Given the description of an element on the screen output the (x, y) to click on. 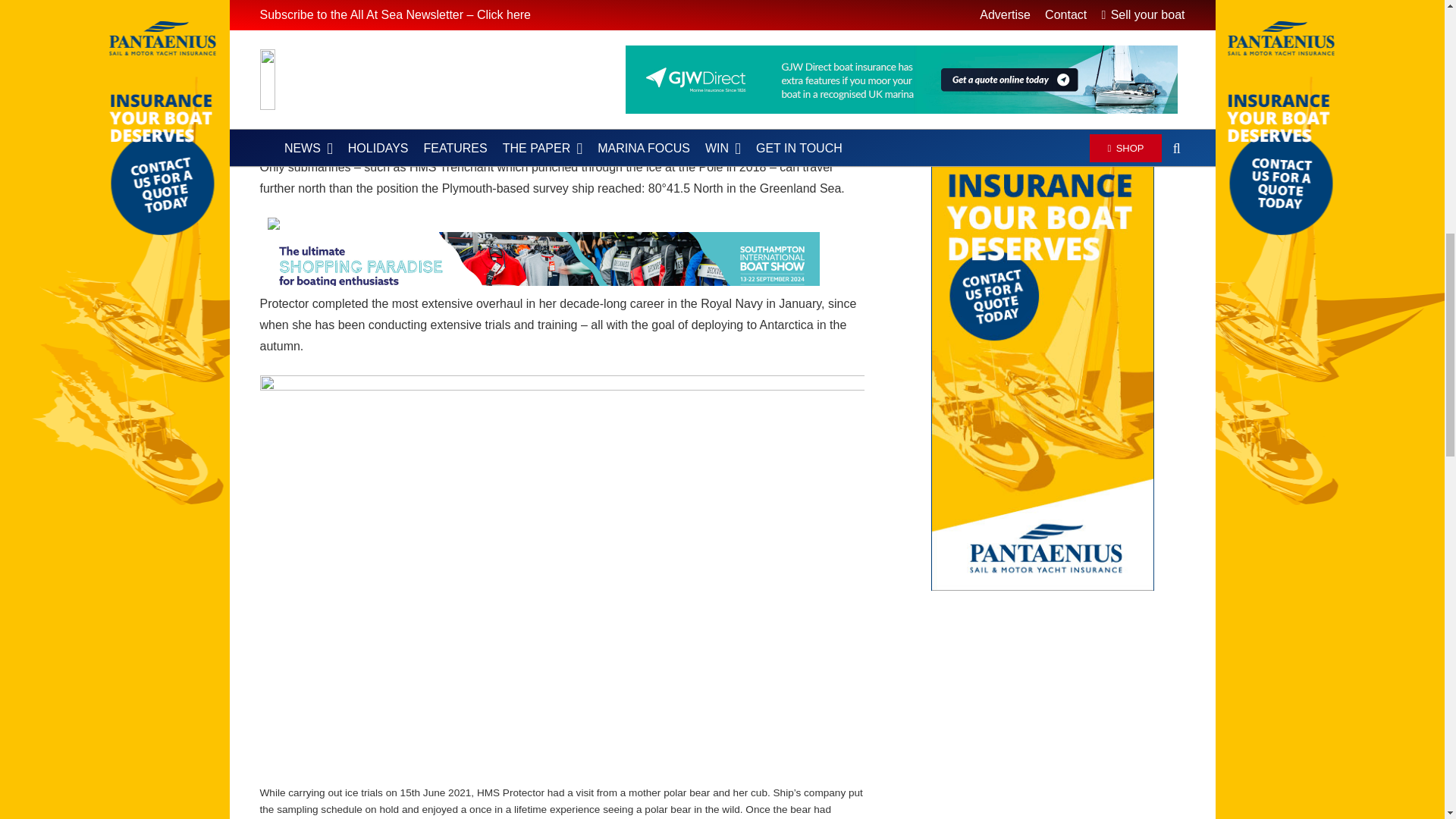
Back to top (1413, 26)
